Given the description of an element on the screen output the (x, y) to click on. 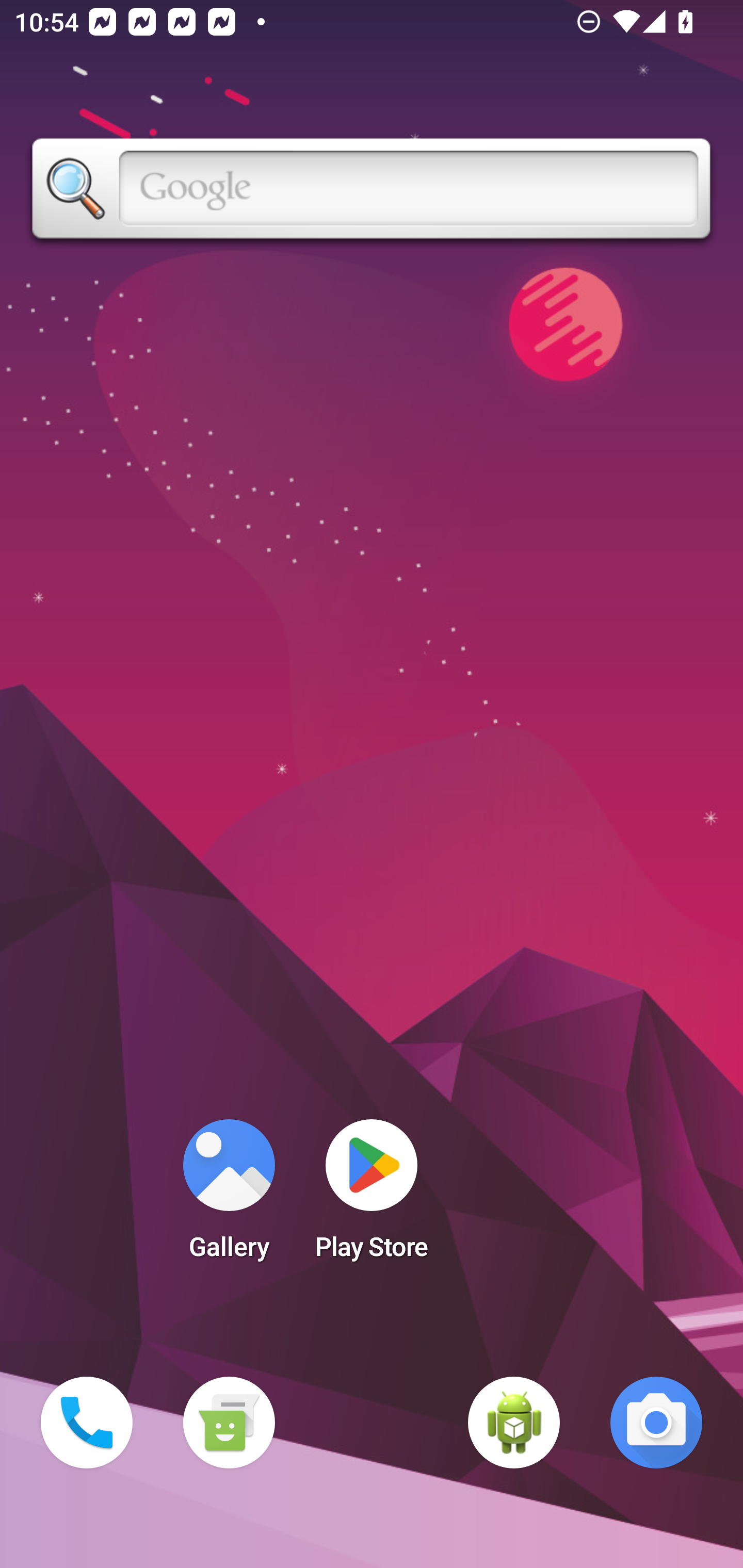
Gallery (228, 1195)
Play Store (371, 1195)
Phone (86, 1422)
Messaging (228, 1422)
WebView Browser Tester (513, 1422)
Camera (656, 1422)
